Given the description of an element on the screen output the (x, y) to click on. 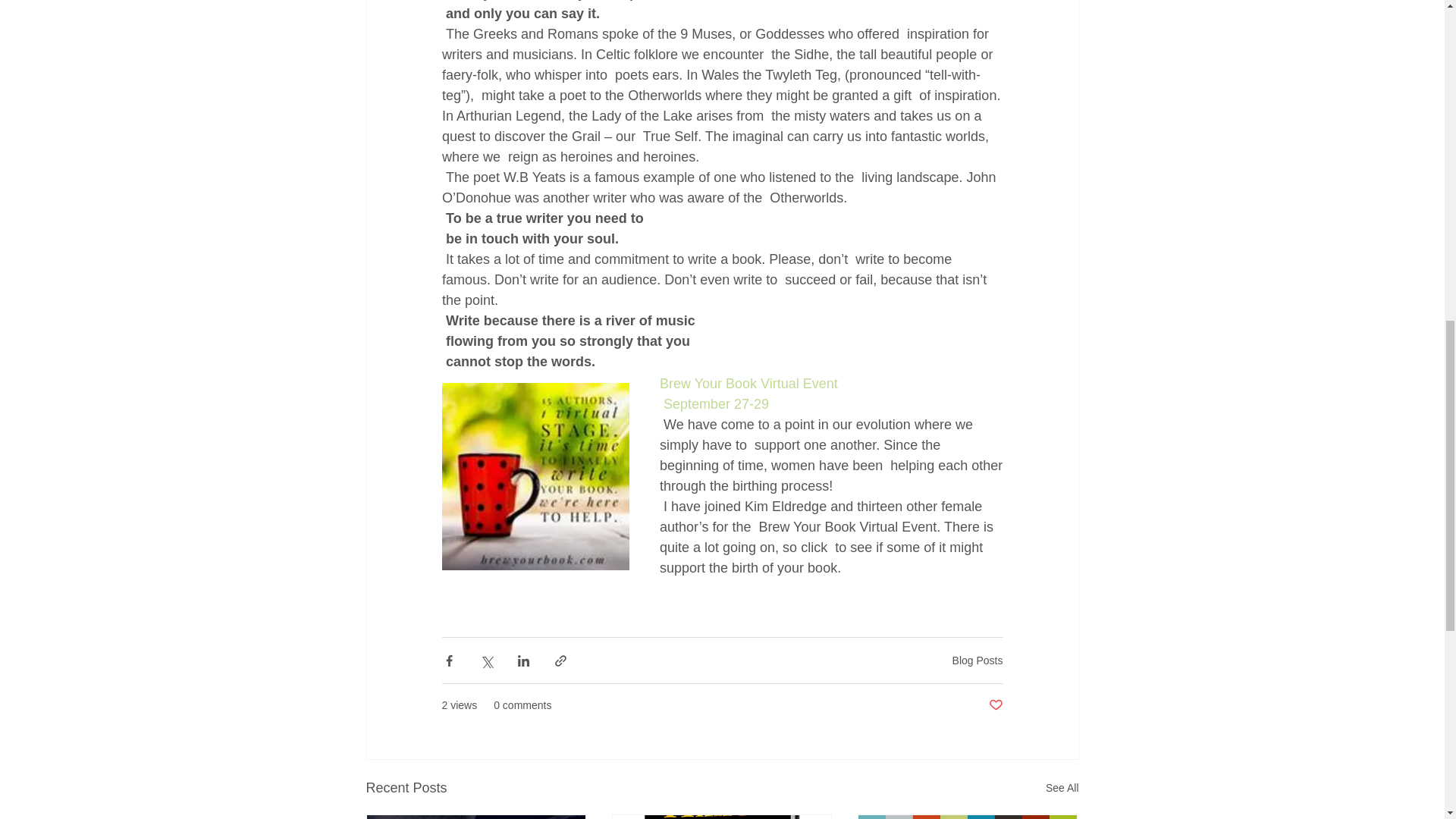
Post not marked as liked (995, 705)
Blog Posts (977, 659)
See All (1061, 788)
Brew Your Book Virtual Event (748, 383)
September 27-29 (715, 403)
